Given the description of an element on the screen output the (x, y) to click on. 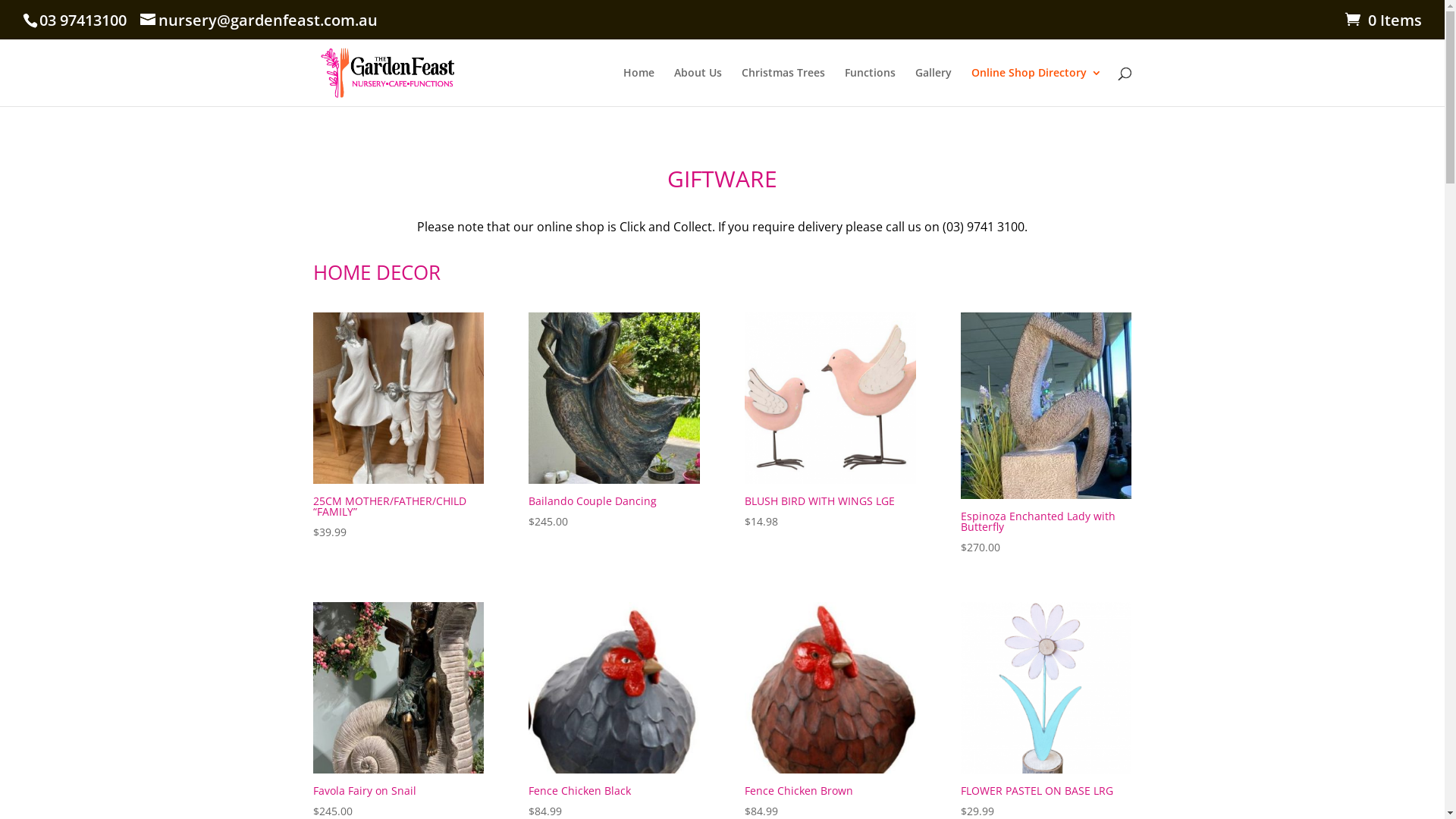
Christmas Trees Element type: text (783, 86)
Functions Element type: text (869, 86)
nursery@gardenfeast.com.au Element type: text (258, 19)
BLUSH BIRD WITH WINGS LGE
$14.98 Element type: text (829, 421)
Home Element type: text (638, 86)
0 Items Element type: text (1383, 19)
Gallery Element type: text (932, 86)
About Us Element type: text (697, 86)
Online Shop Directory Element type: text (1035, 86)
Bailando Couple Dancing
$245.00 Element type: text (613, 421)
Espinoza Enchanted Lady with Butterfly
$270.00 Element type: text (1045, 434)
